Given the description of an element on the screen output the (x, y) to click on. 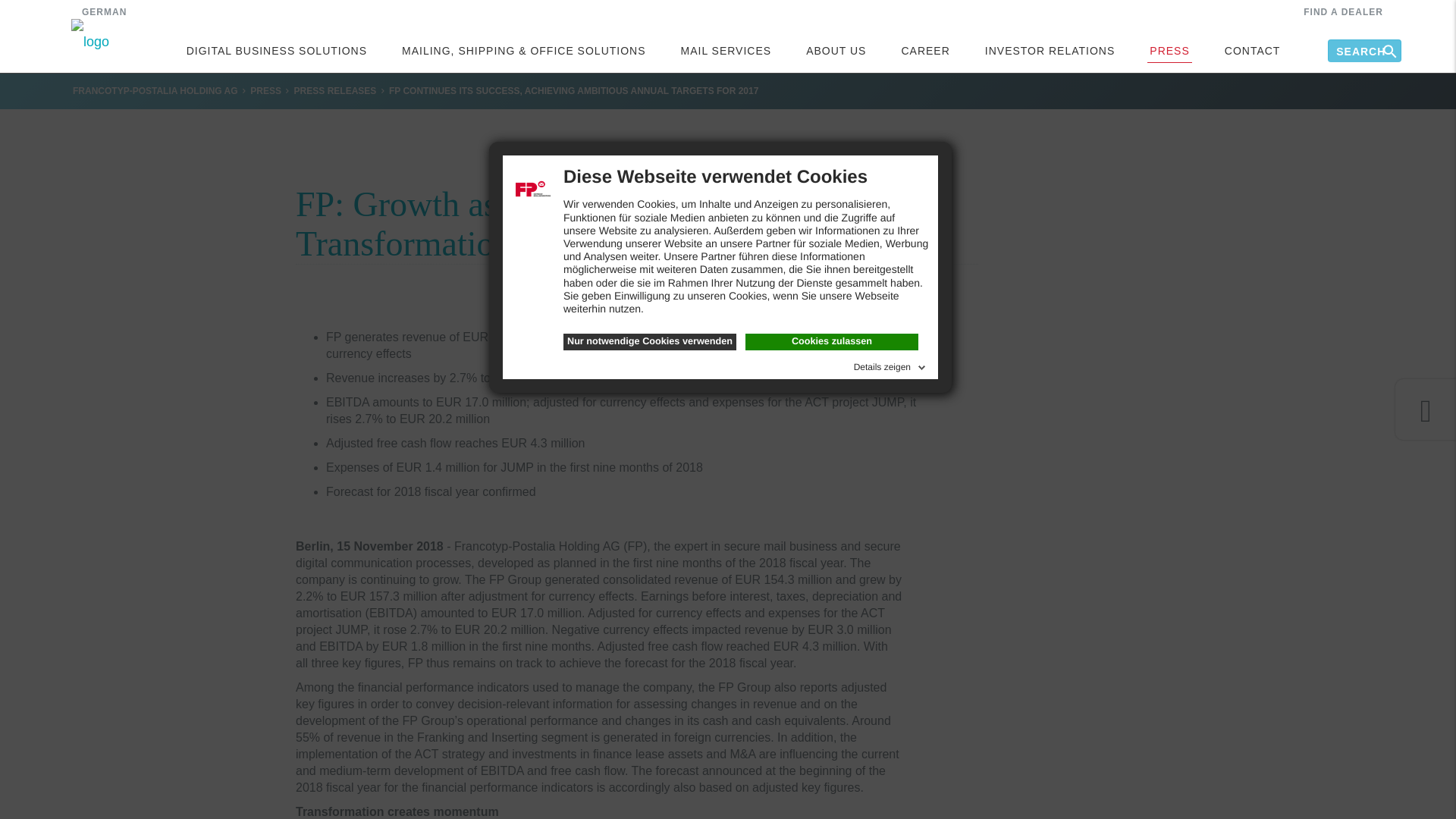
DIGITAL BUSINESS SOLUTIONS (276, 48)
Details zeigen (890, 364)
Cookies zulassen (831, 341)
SEARCH (1374, 36)
GERMAN (103, 11)
FIND A DEALER (1343, 11)
Nur notwendige Cookies verwenden (649, 341)
